Given the description of an element on the screen output the (x, y) to click on. 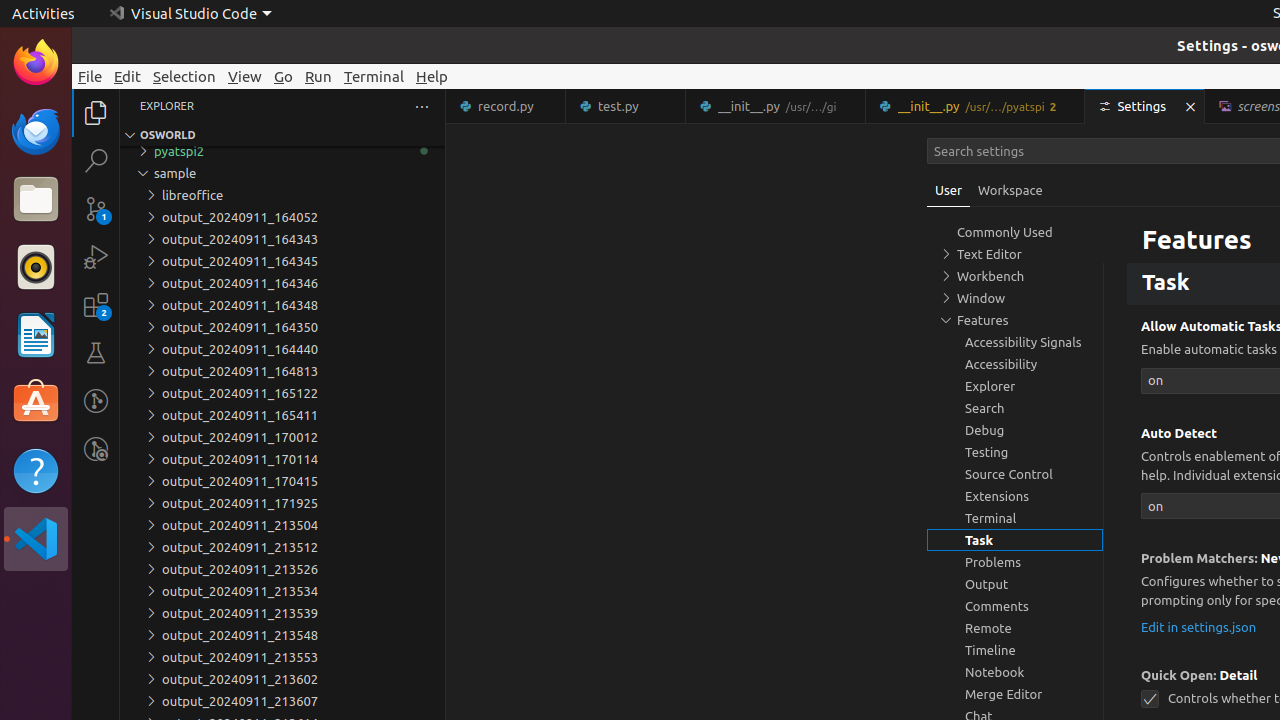
output_20240911_165411 Element type: tree-item (282, 415)
output_20240911_164440 Element type: tree-item (282, 349)
test.py Element type: page-tab (626, 106)
Problems, group Element type: tree-item (1015, 562)
